Given the description of an element on the screen output the (x, y) to click on. 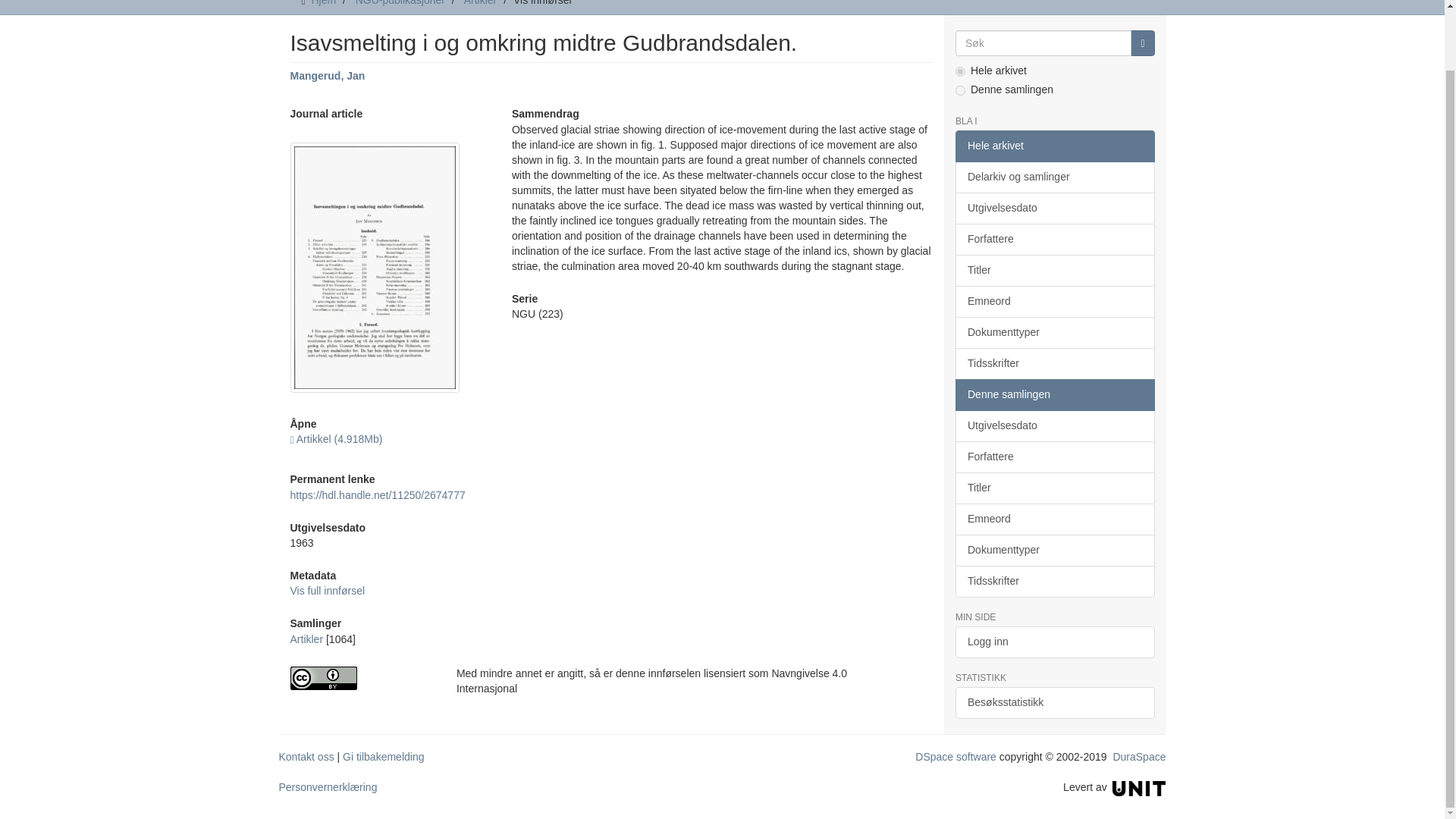
Hjem (323, 2)
Titler (1054, 270)
Hele arkivet (1054, 146)
Delarkiv og samlinger (1054, 177)
Forfattere (1054, 239)
Artikler (306, 639)
Artikler (480, 2)
Unit (1139, 787)
NGU-publikasjoner (400, 2)
Navngivelse 4.0 Internasjonal (360, 678)
